Given the description of an element on the screen output the (x, y) to click on. 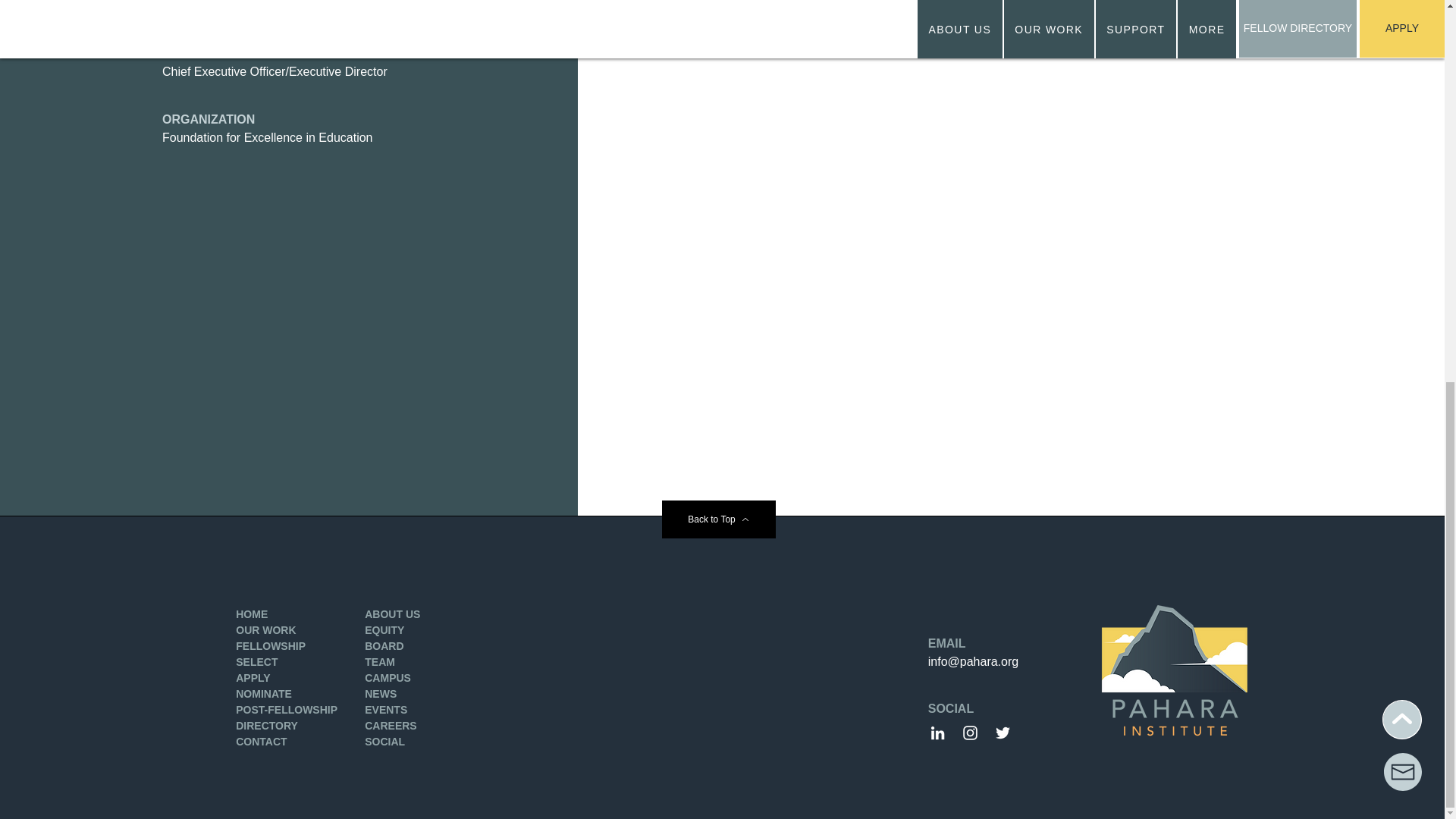
FELLOWSHIP (270, 645)
CONTACT (260, 741)
Back to Top (717, 519)
NEWS (380, 693)
EVENTS (386, 709)
BOARD (384, 645)
APPLY (252, 677)
TEAM (379, 662)
ABOUT US (392, 613)
POST-FELLOWSHIP (286, 709)
